Given the description of an element on the screen output the (x, y) to click on. 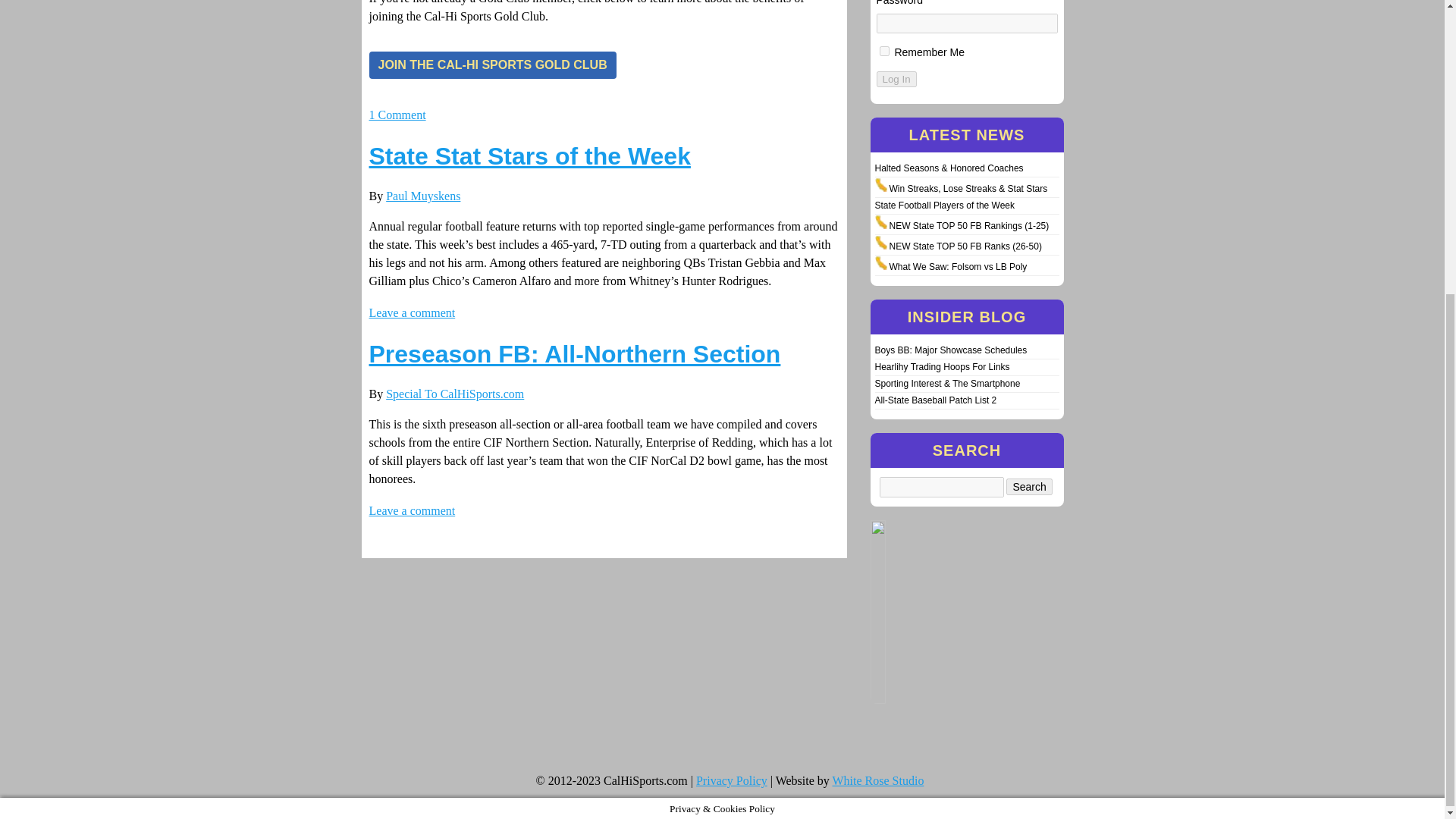
Permalink to Boys BB: Major Showcase Schedules (951, 349)
Permalink to State Football Players of the Week (944, 204)
Permalink to Preseason FB: All-Northern Section (574, 353)
Permalink to State Stat Stars of the Week (529, 155)
Permalink to What We Saw: Folsom vs LB Poly (957, 266)
Permalink to Hearlihy Trading Hoops For Links (942, 366)
Permalink to All-State Baseball Patch List 2 (936, 399)
forever (884, 50)
View all posts by Paul Muyskens (422, 195)
Search (1028, 486)
